Given the description of an element on the screen output the (x, y) to click on. 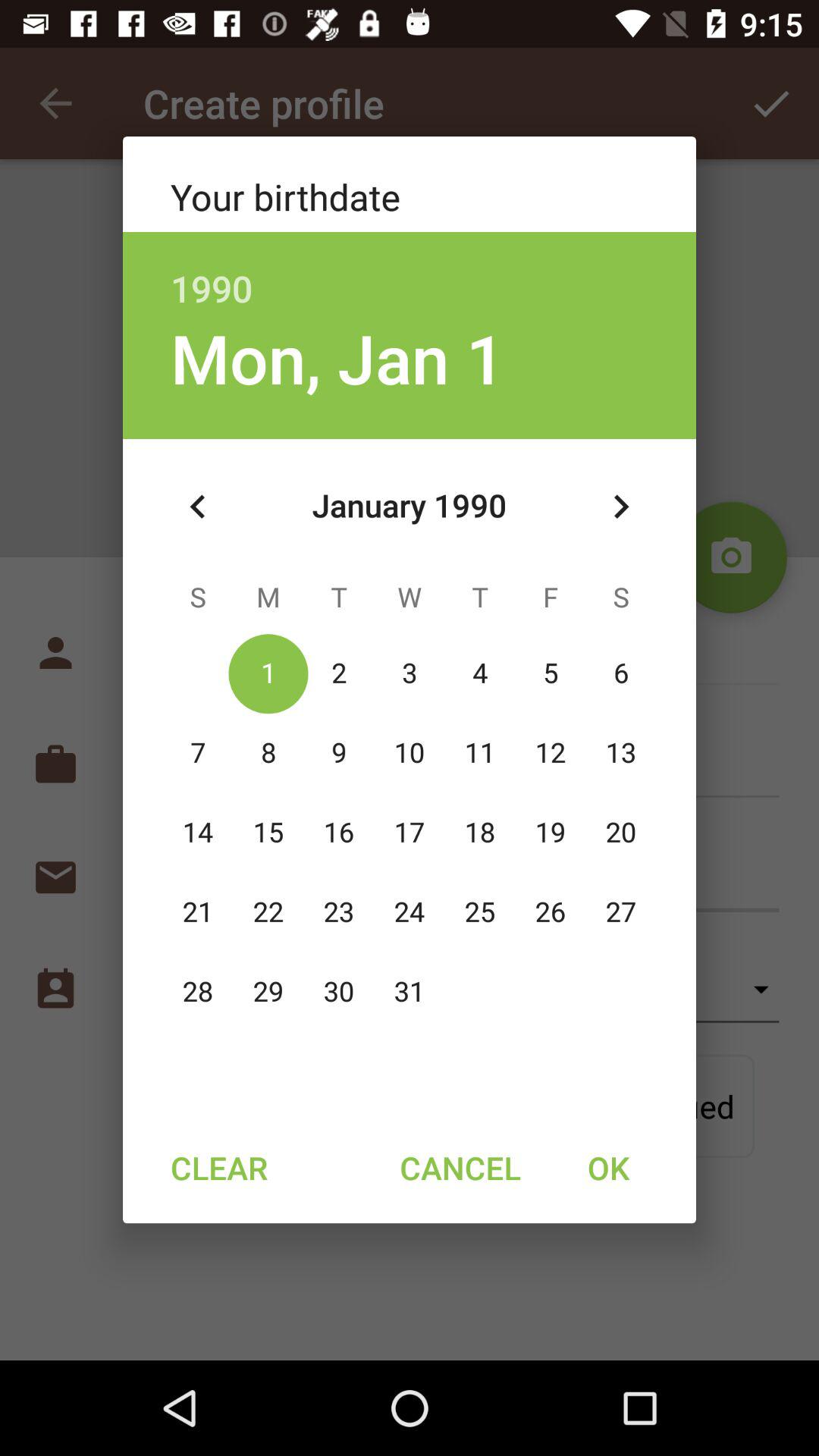
open item below the your birthdate item (409, 272)
